Given the description of an element on the screen output the (x, y) to click on. 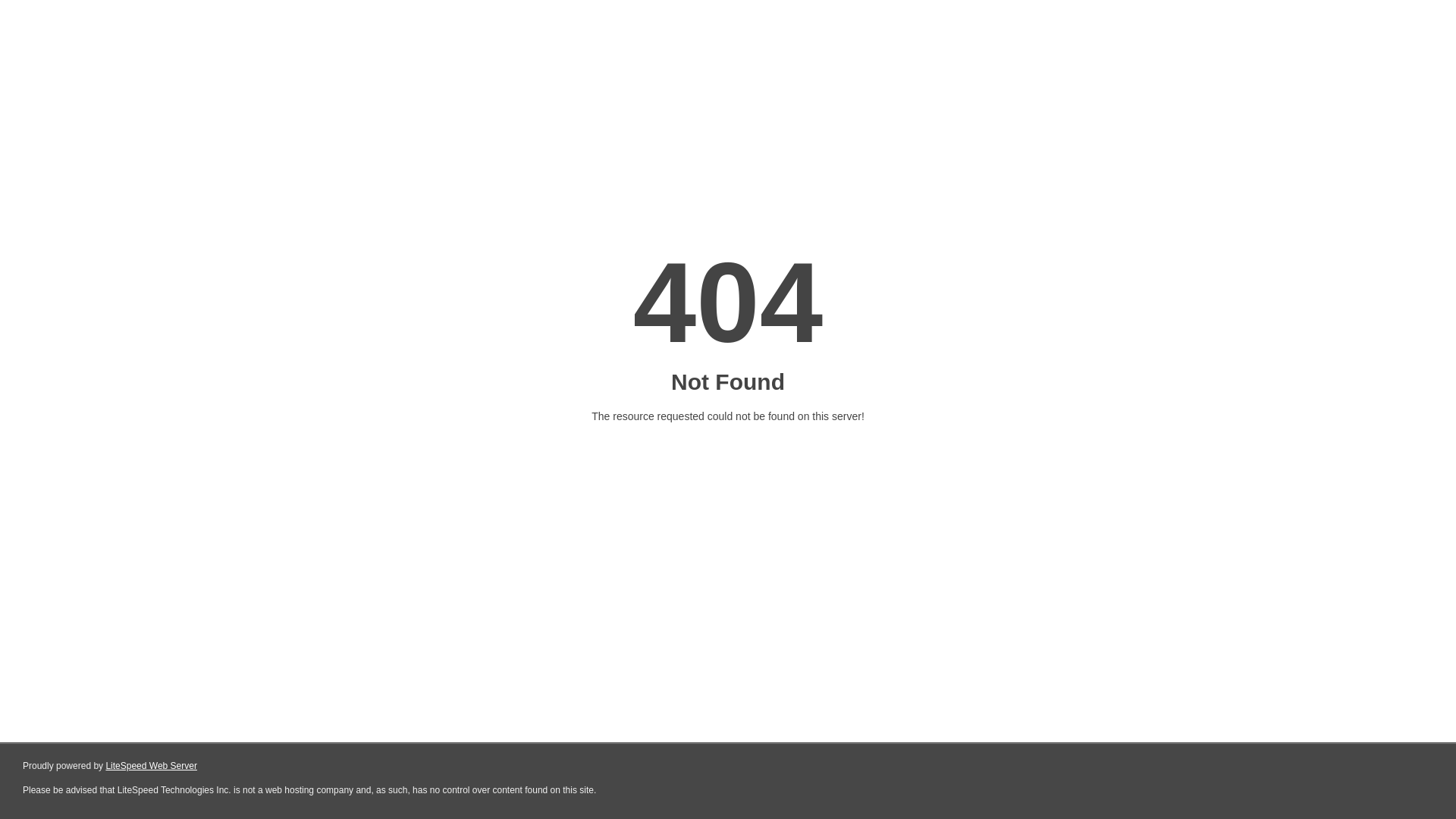
LiteSpeed Web Server Element type: text (151, 765)
